Given the description of an element on the screen output the (x, y) to click on. 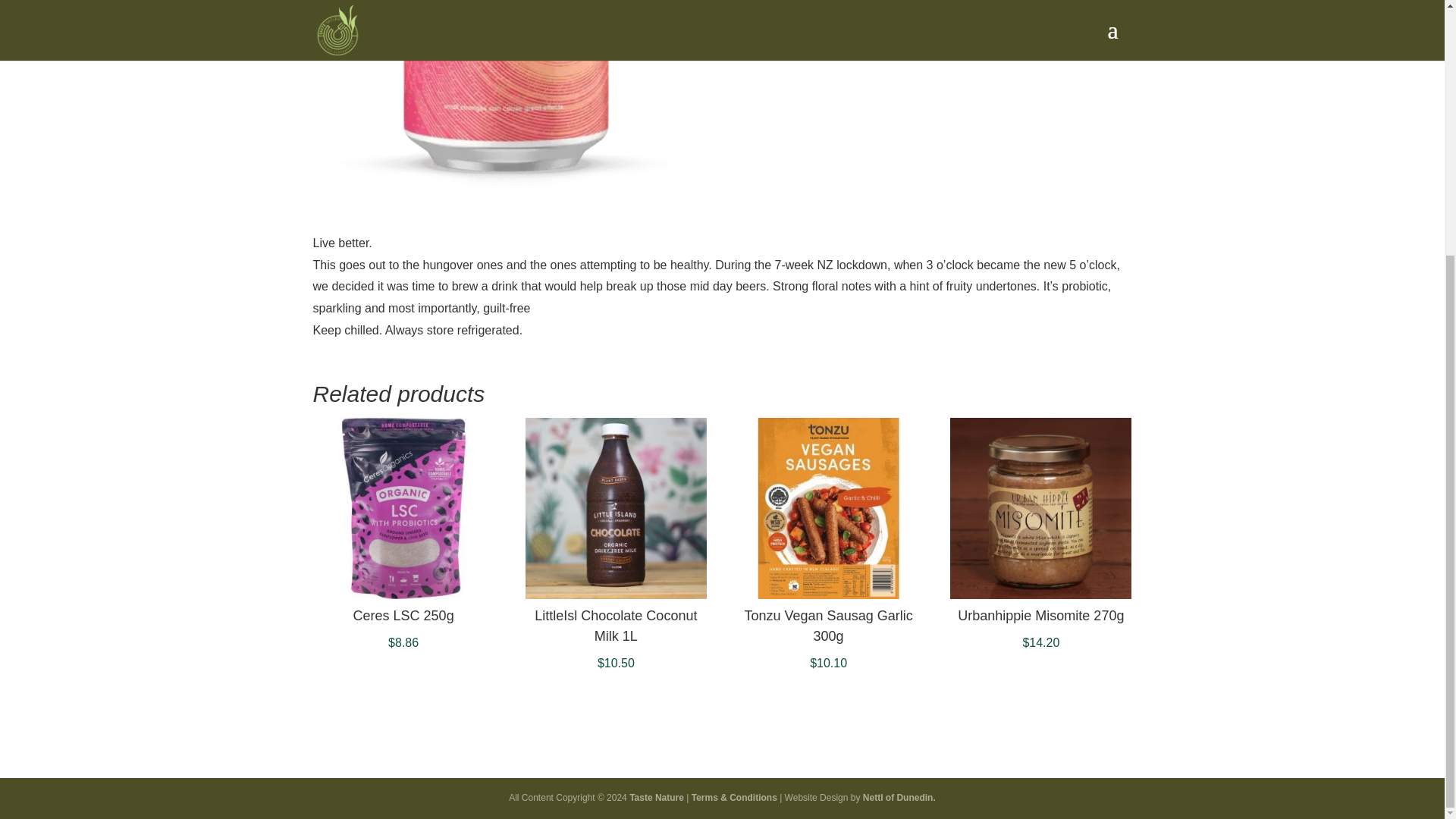
Nettl of Dunedin. (899, 797)
Chilled Products (913, 3)
Taste Nature (656, 797)
